Given the description of an element on the screen output the (x, y) to click on. 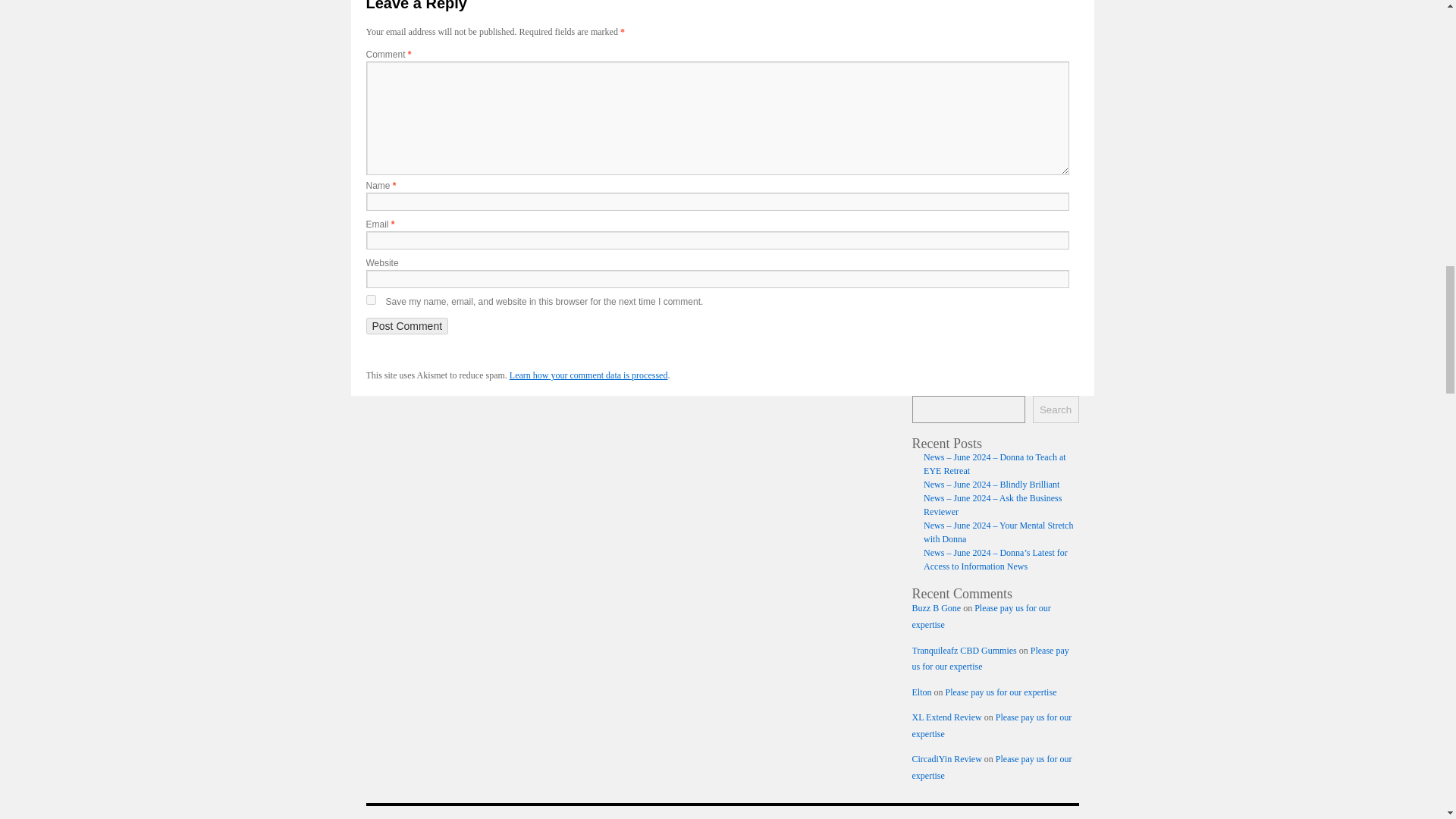
yes (370, 299)
Post Comment (406, 325)
